Given the description of an element on the screen output the (x, y) to click on. 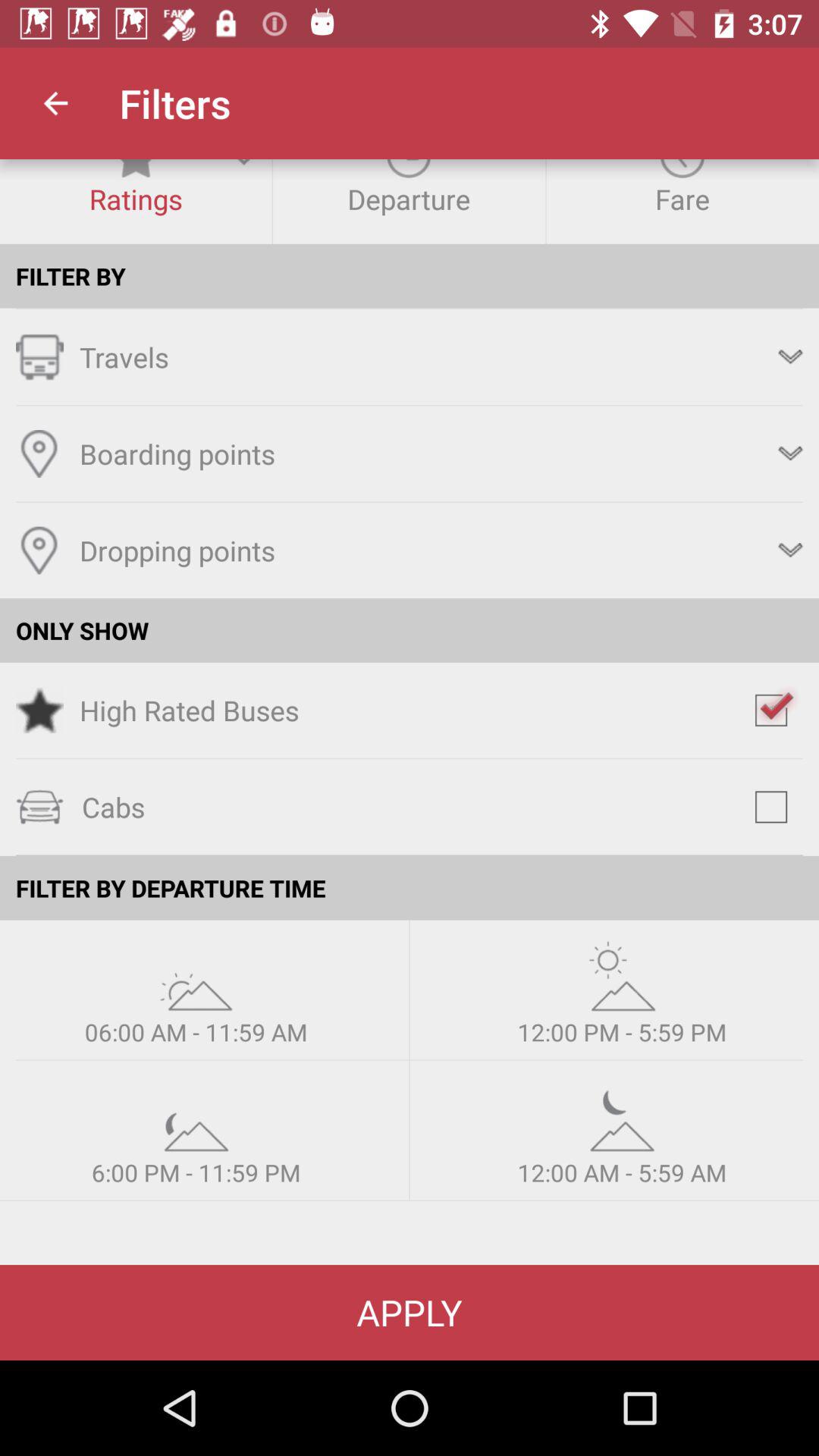
filter option (196, 975)
